Given the description of an element on the screen output the (x, y) to click on. 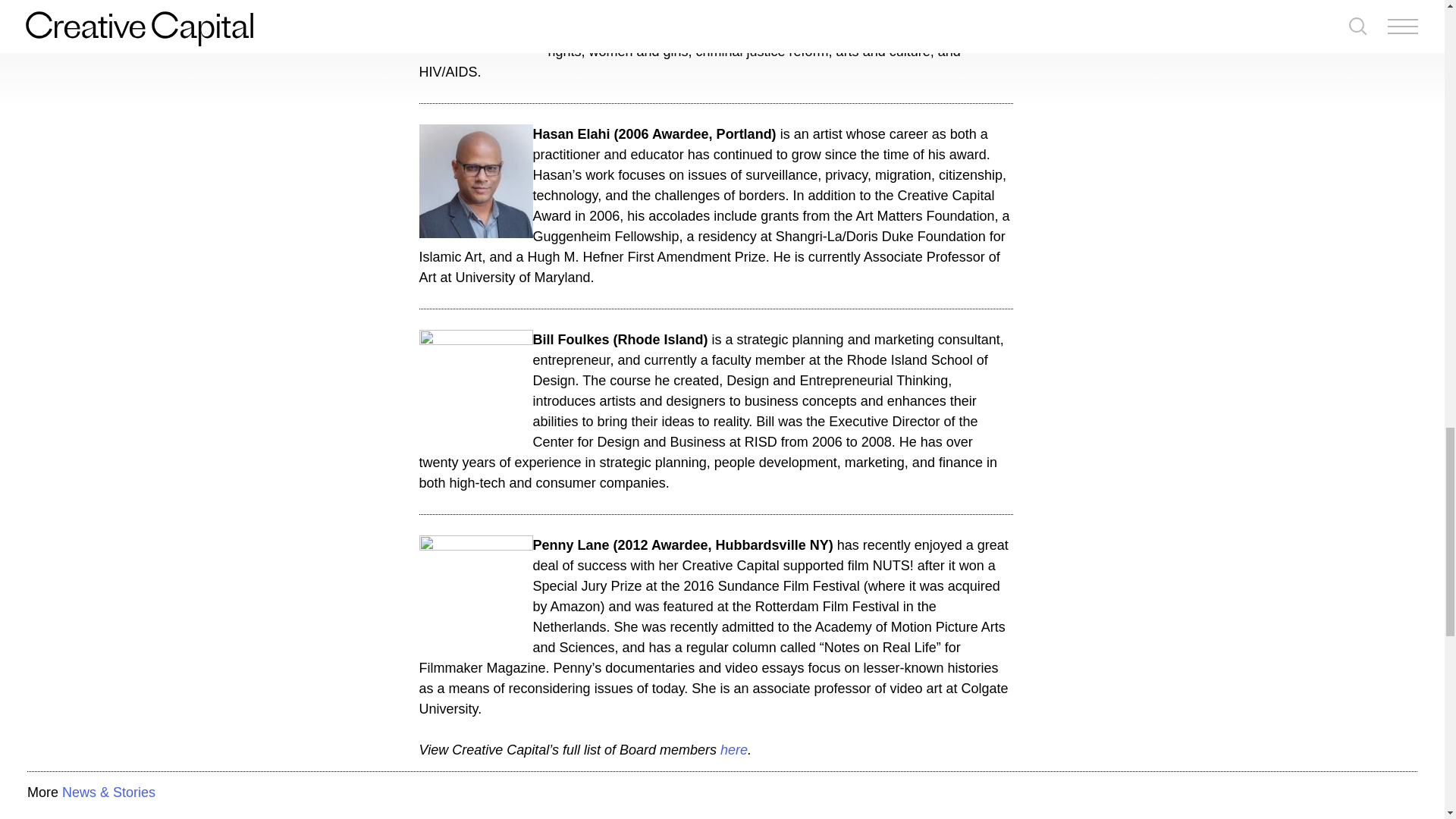
here (734, 749)
